Given the description of an element on the screen output the (x, y) to click on. 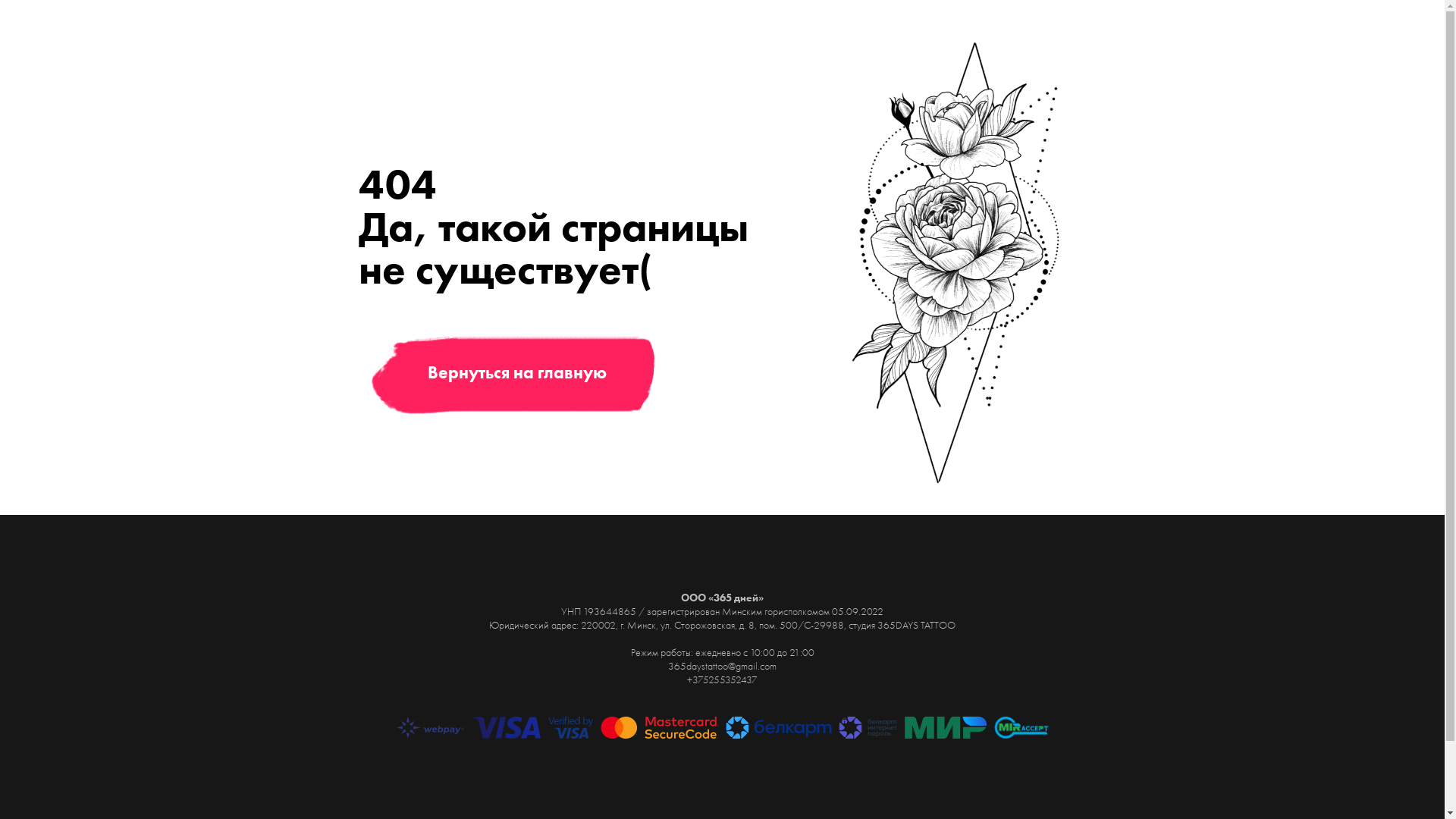
+375255352437 Element type: text (722, 679)
365daystattoo@gmail.com Element type: text (722, 665)
